Given the description of an element on the screen output the (x, y) to click on. 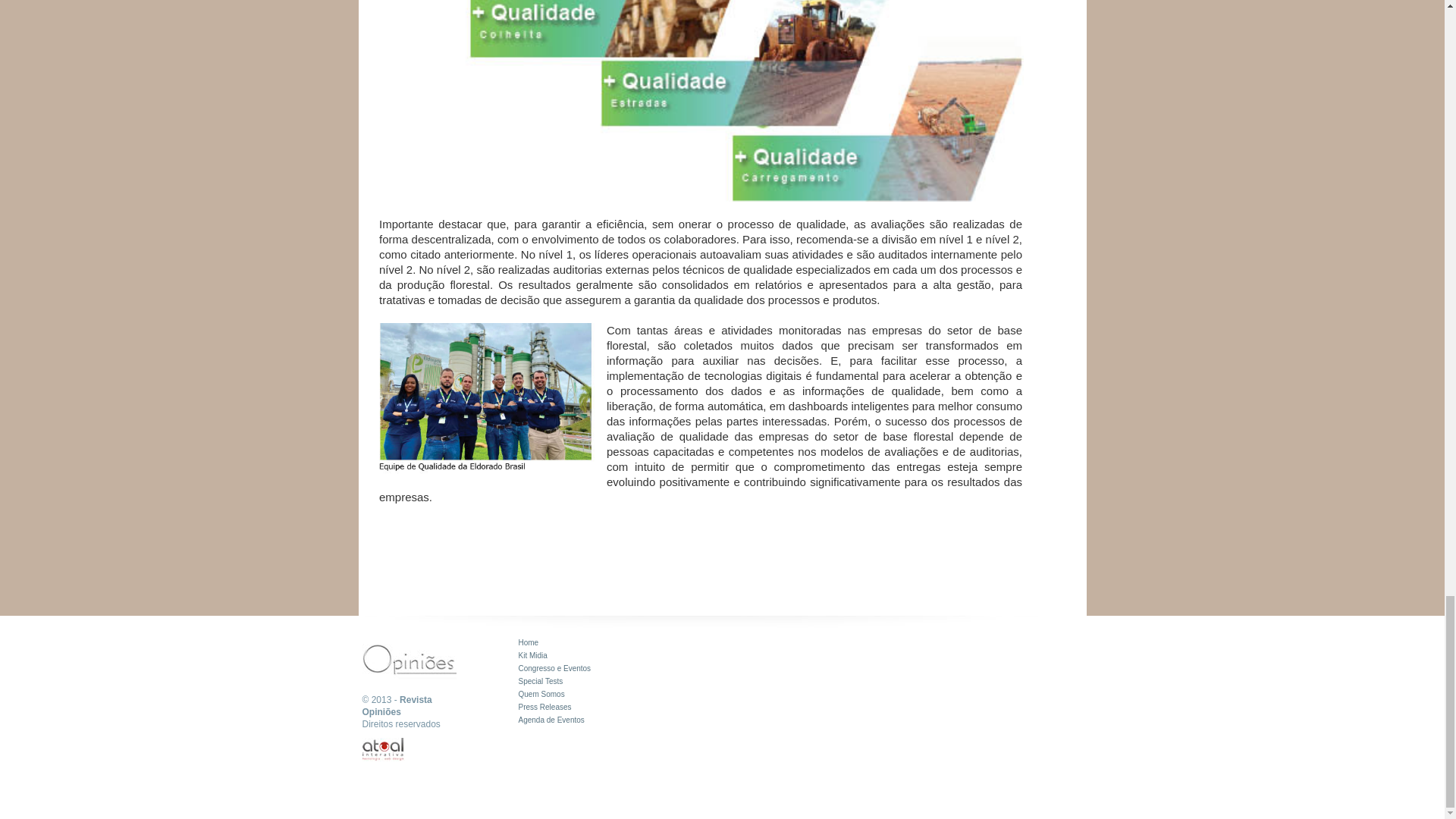
Home (528, 642)
atual interativa (383, 748)
Direitos reservados (401, 724)
